Given the description of an element on the screen output the (x, y) to click on. 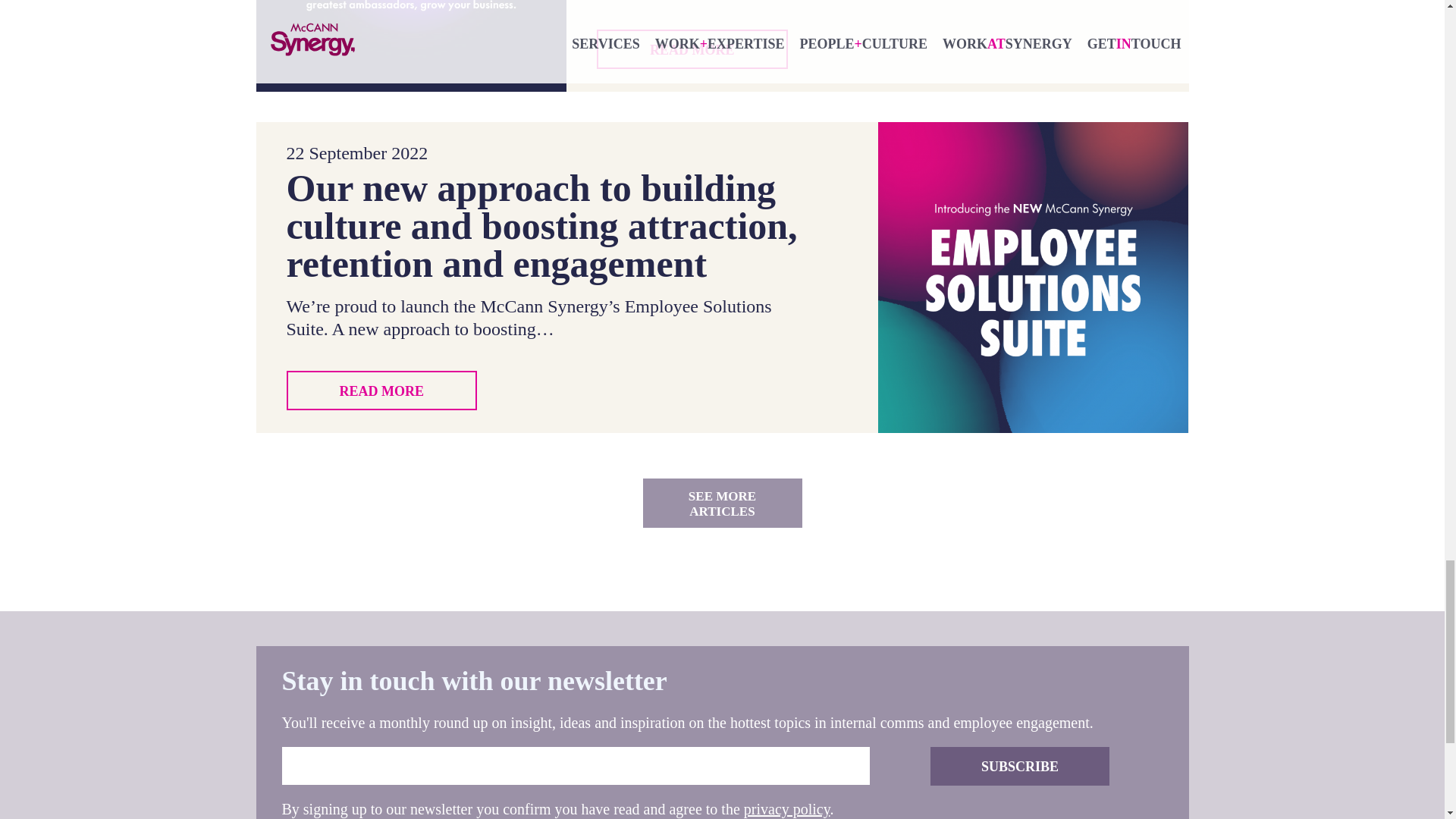
READ MORE (691, 48)
privacy policy (786, 808)
READ MORE (381, 390)
Subscribe (1019, 765)
Subscribe (1019, 765)
SEE MORE ARTICLES (722, 502)
